Given the description of an element on the screen output the (x, y) to click on. 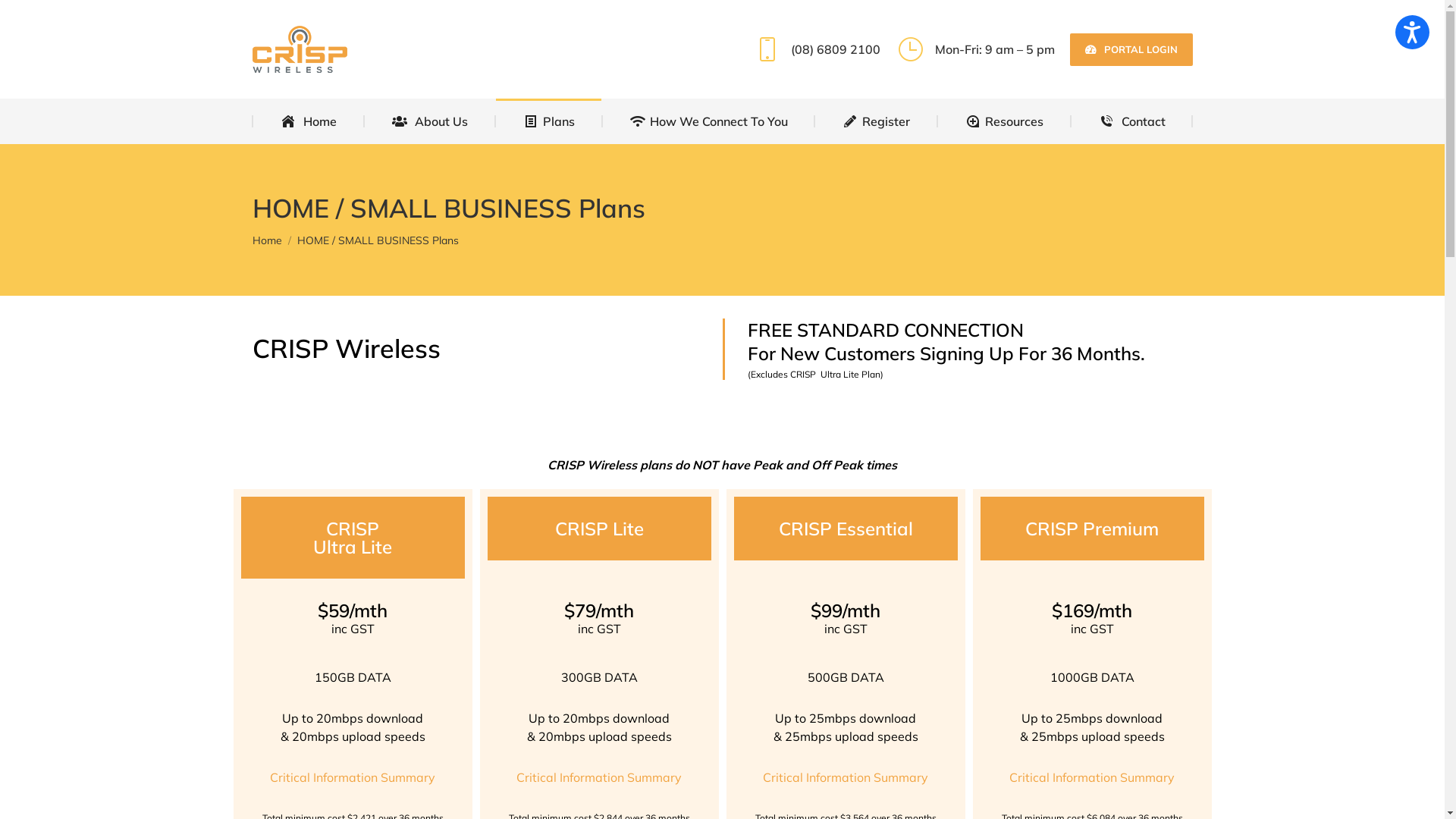
Plans Element type: text (548, 121)
Contact Element type: text (1132, 121)
Critical Information Summary Element type: text (845, 776)
How We Connect To You Element type: text (708, 121)
About Us Element type: text (429, 121)
Home Element type: text (308, 121)
Critical Information Summary Element type: text (352, 776)
Register Element type: text (876, 121)
Resources Element type: text (1004, 121)
PORTAL LOGIN Element type: text (1130, 49)
Critical Information Summary Element type: text (1091, 776)
Critical Information Summary Element type: text (598, 776)
Home Element type: text (266, 240)
